Given the description of an element on the screen output the (x, y) to click on. 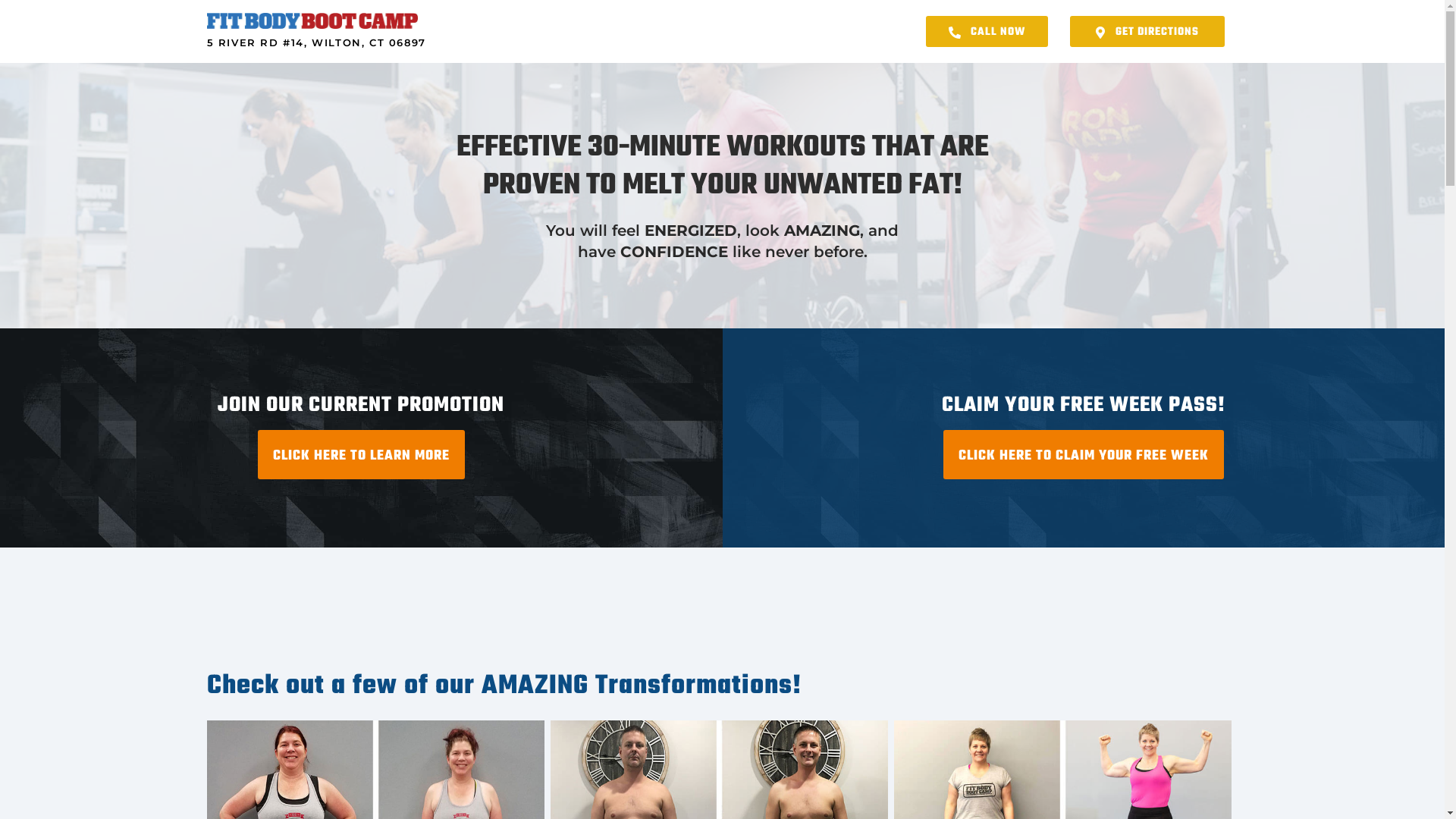
CLICK HERE TO CLAIM YOUR FREE WEEK Element type: text (1083, 454)
CLICK HERE TO LEARN MORE Element type: text (360, 454)
CALL NOW Element type: text (986, 31)
GET DIRECTIONS Element type: text (1147, 31)
